Given the description of an element on the screen output the (x, y) to click on. 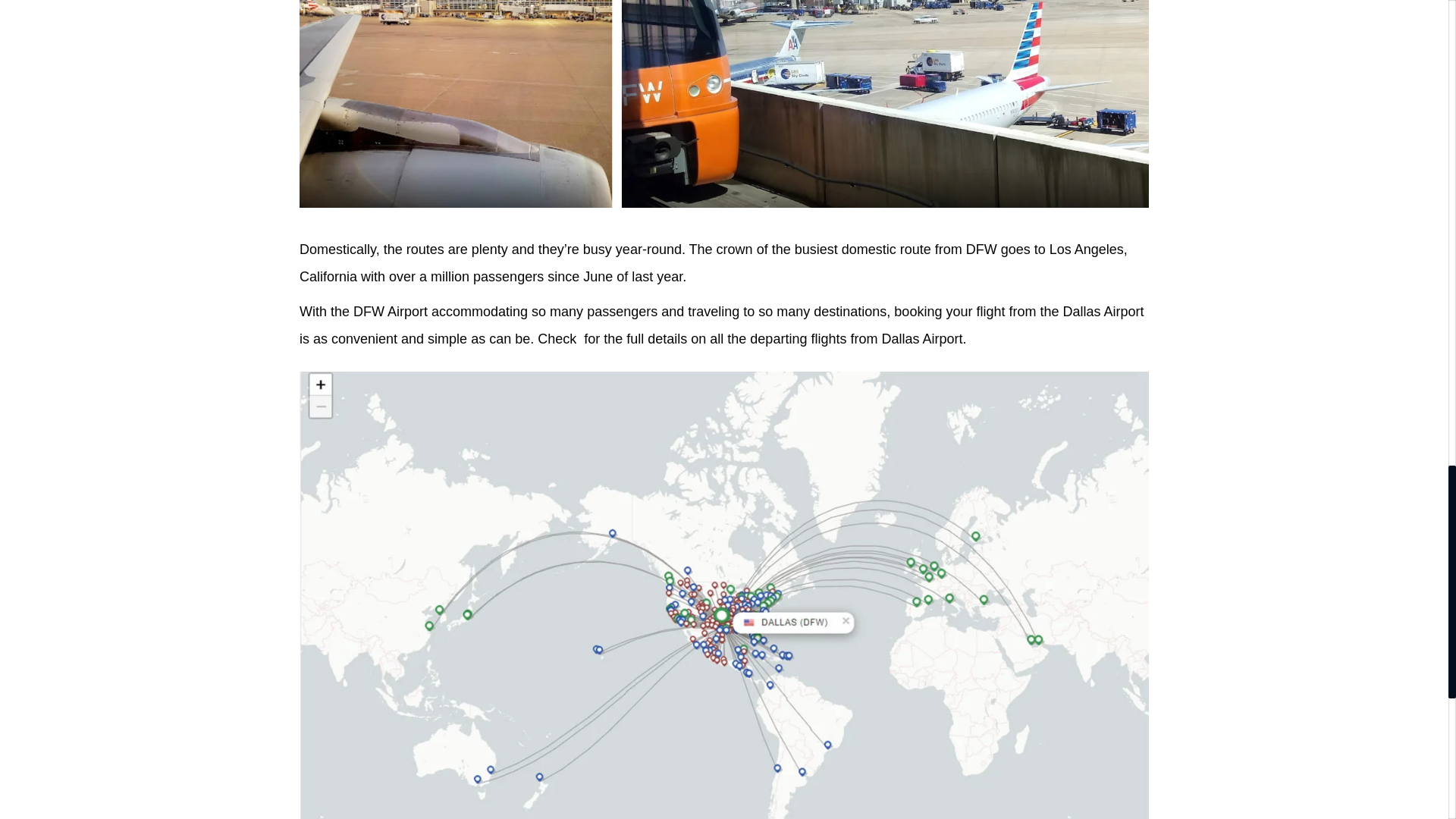
departing flights from Dallas Airport. (857, 338)
